Given the description of an element on the screen output the (x, y) to click on. 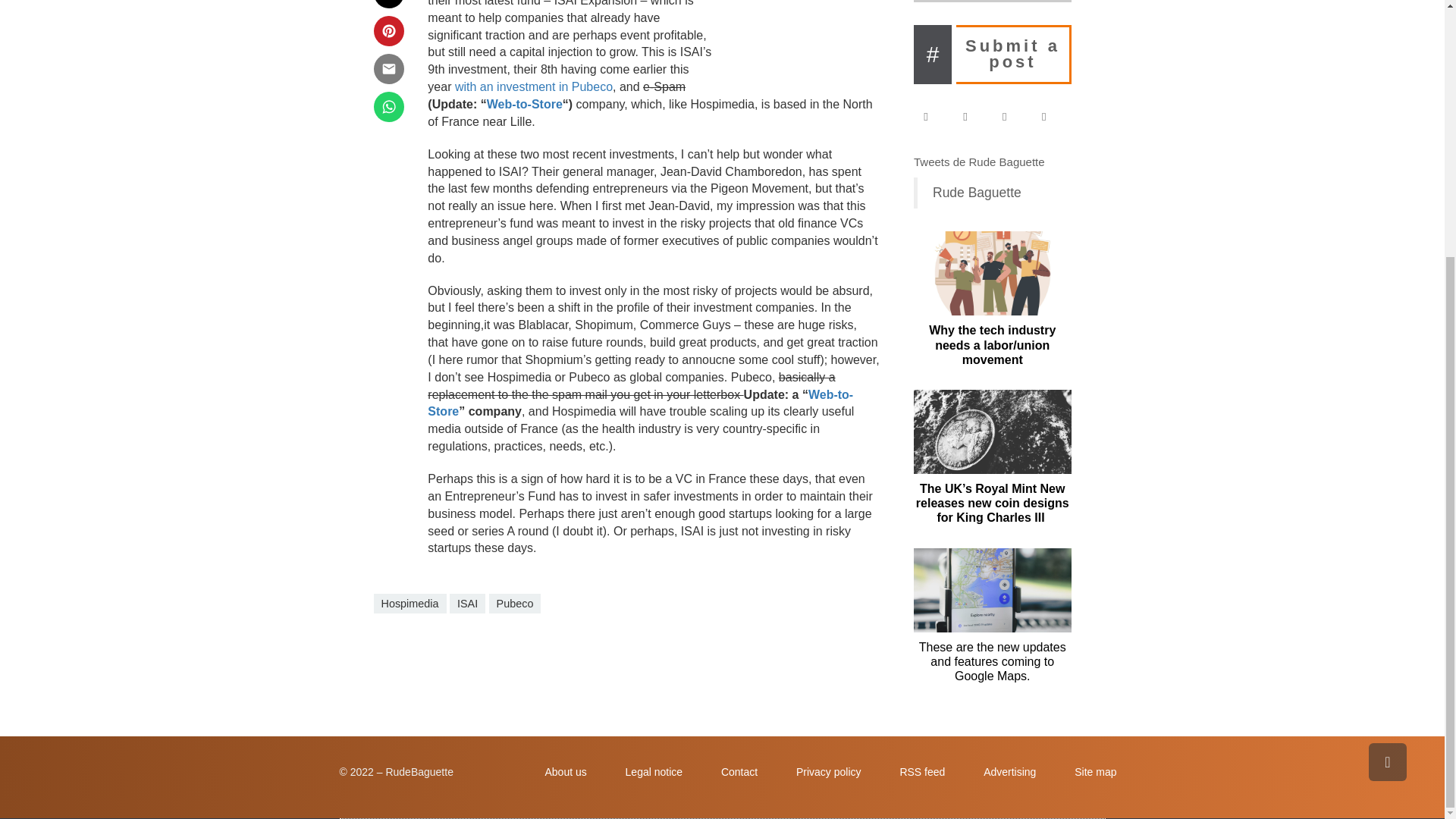
Pubeco (515, 603)
Web-to-Store (524, 103)
Twitter (972, 116)
RSS (1050, 116)
Register (992, 1)
Scroll to top (1387, 397)
Tweets de Rude Baguette (979, 161)
Web-to-Store (640, 403)
Rude Baguette (977, 192)
LinkedIn (1011, 116)
Register (992, 1)
Scroll to top (1387, 397)
Scroll to top (1387, 397)
